Given the description of an element on the screen output the (x, y) to click on. 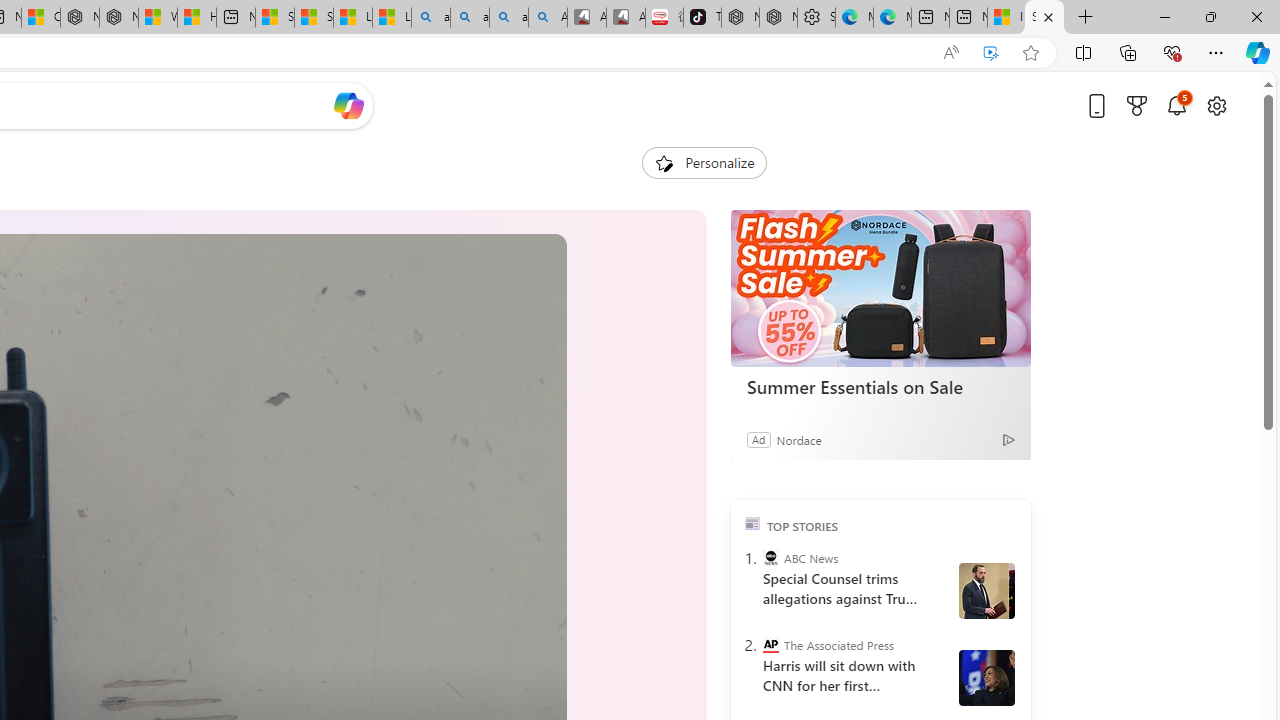
Personalize (703, 162)
Summer Essentials on Sale (879, 288)
